Given the description of an element on the screen output the (x, y) to click on. 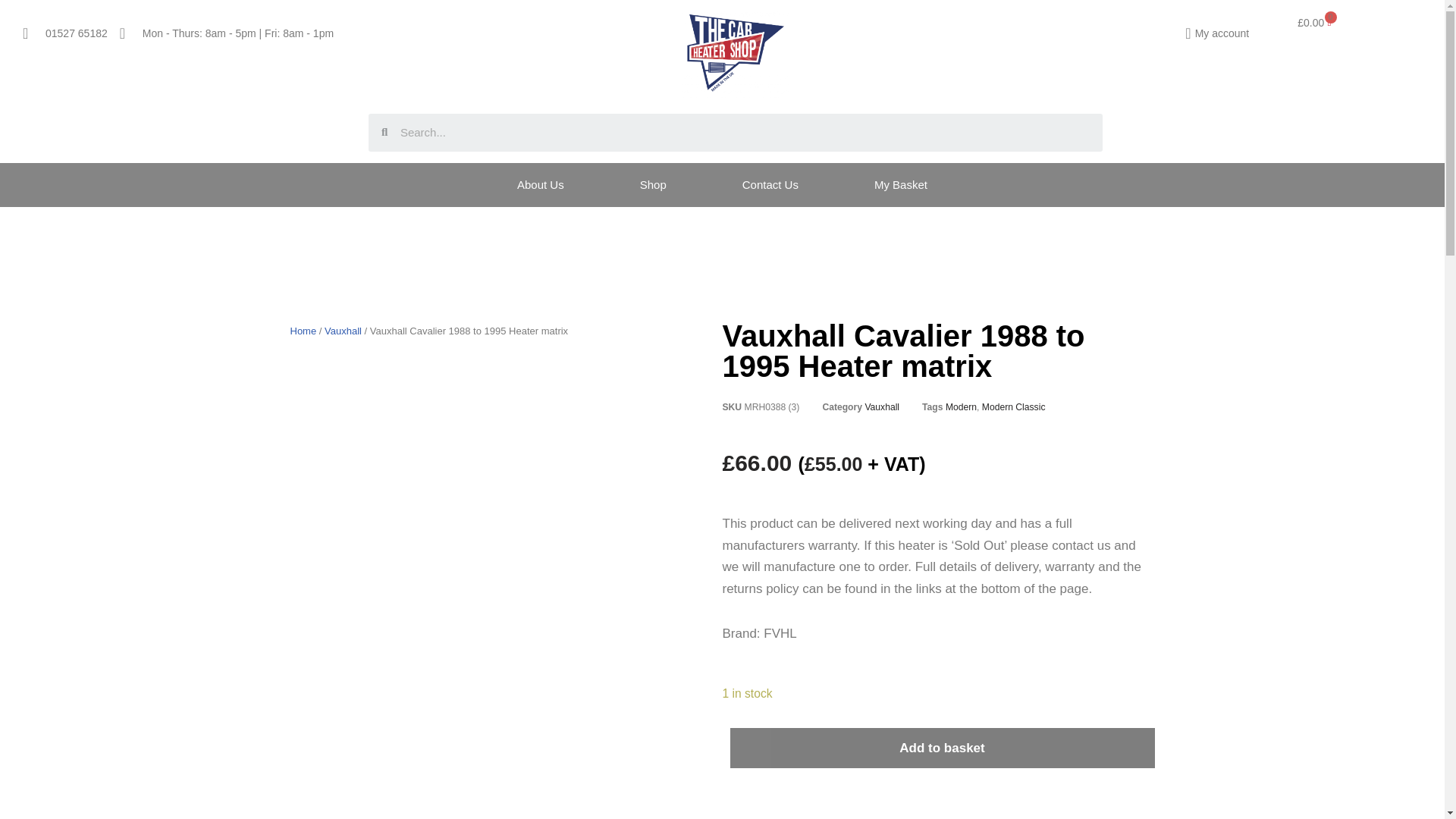
Search (744, 132)
Shop (653, 184)
Contact Us (769, 184)
My Basket (900, 184)
Home (302, 330)
Add to basket (941, 748)
Vauxhall (881, 407)
Modern (960, 407)
Modern Classic (1013, 407)
About Us (540, 184)
